Given the description of an element on the screen output the (x, y) to click on. 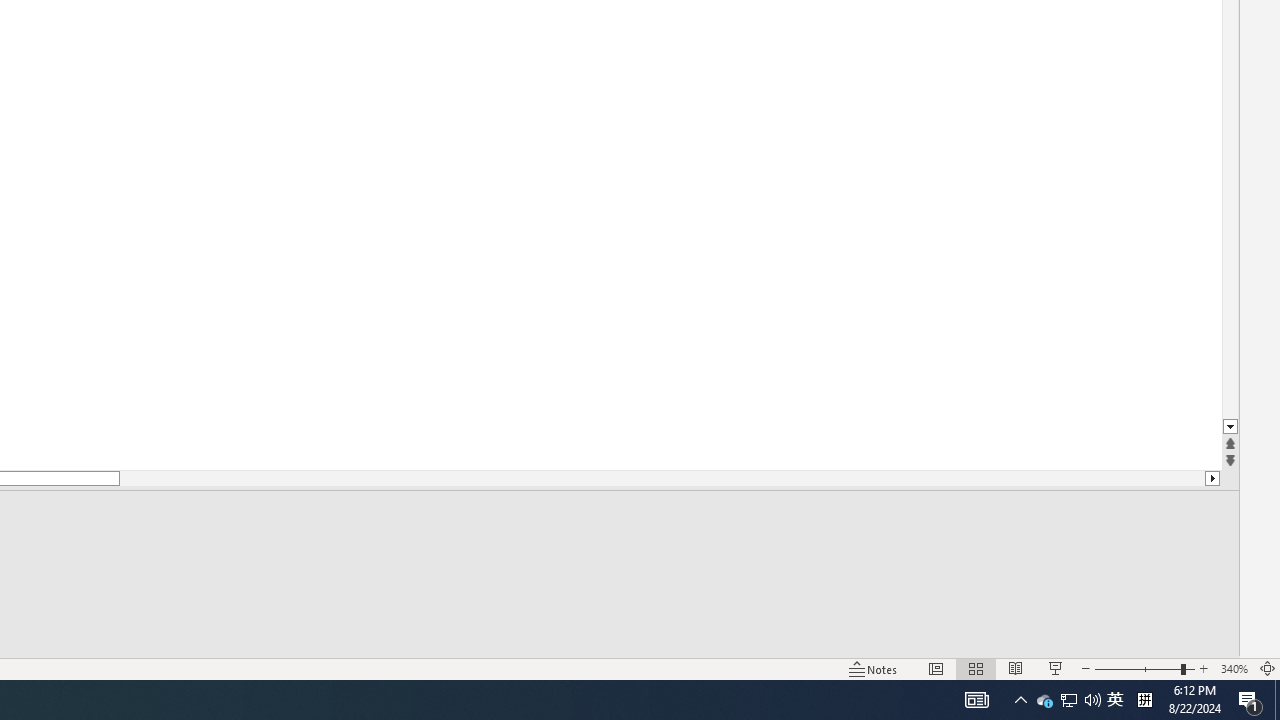
Zoom 340% (1234, 668)
